Given the description of an element on the screen output the (x, y) to click on. 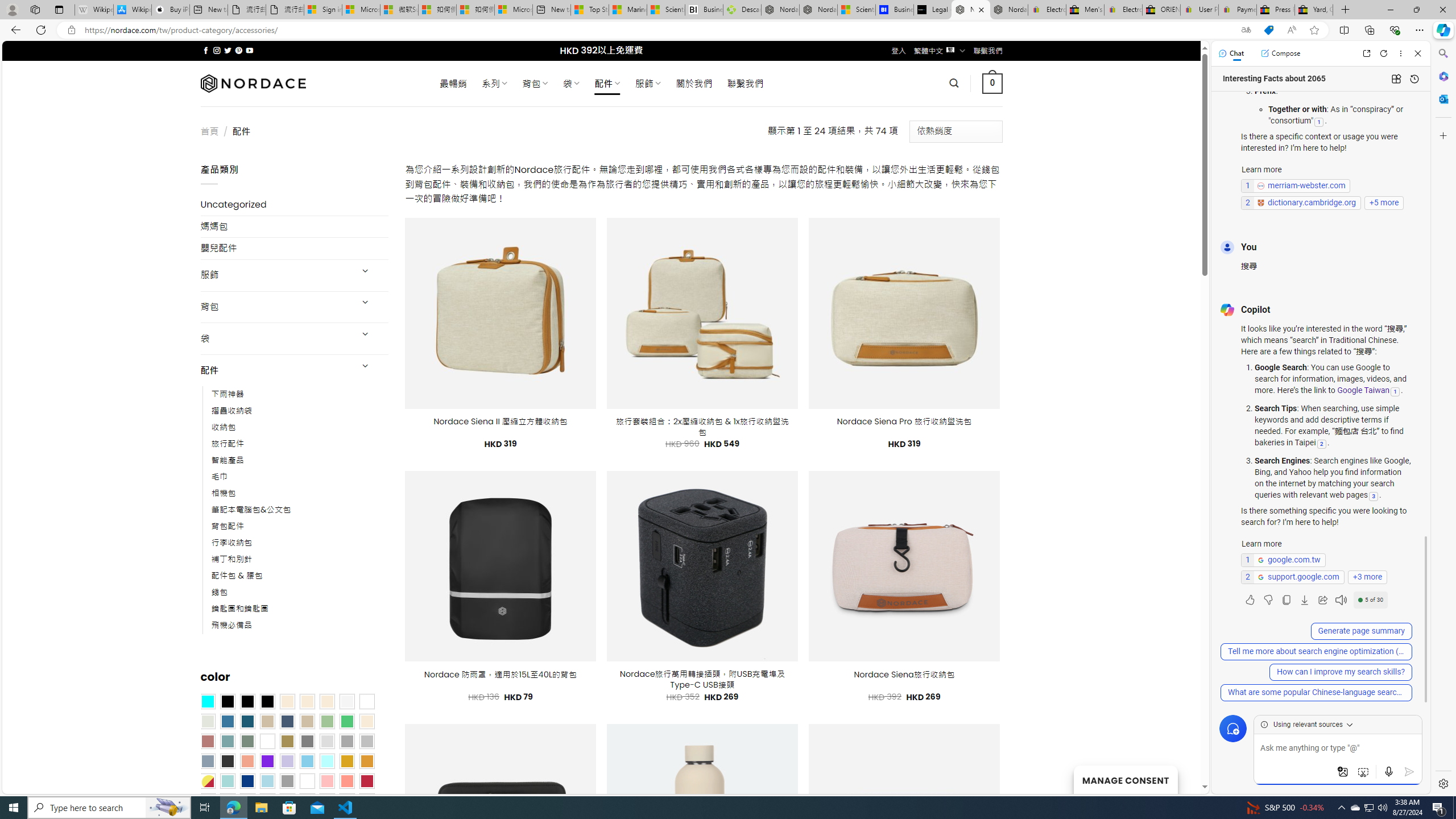
Yard, Garden & Outdoor Living (1314, 9)
Top Stories - MSN (589, 9)
User Privacy Notice | eBay (1198, 9)
Follow on YouTube (249, 50)
Microsoft Services Agreement (360, 9)
